Given the description of an element on the screen output the (x, y) to click on. 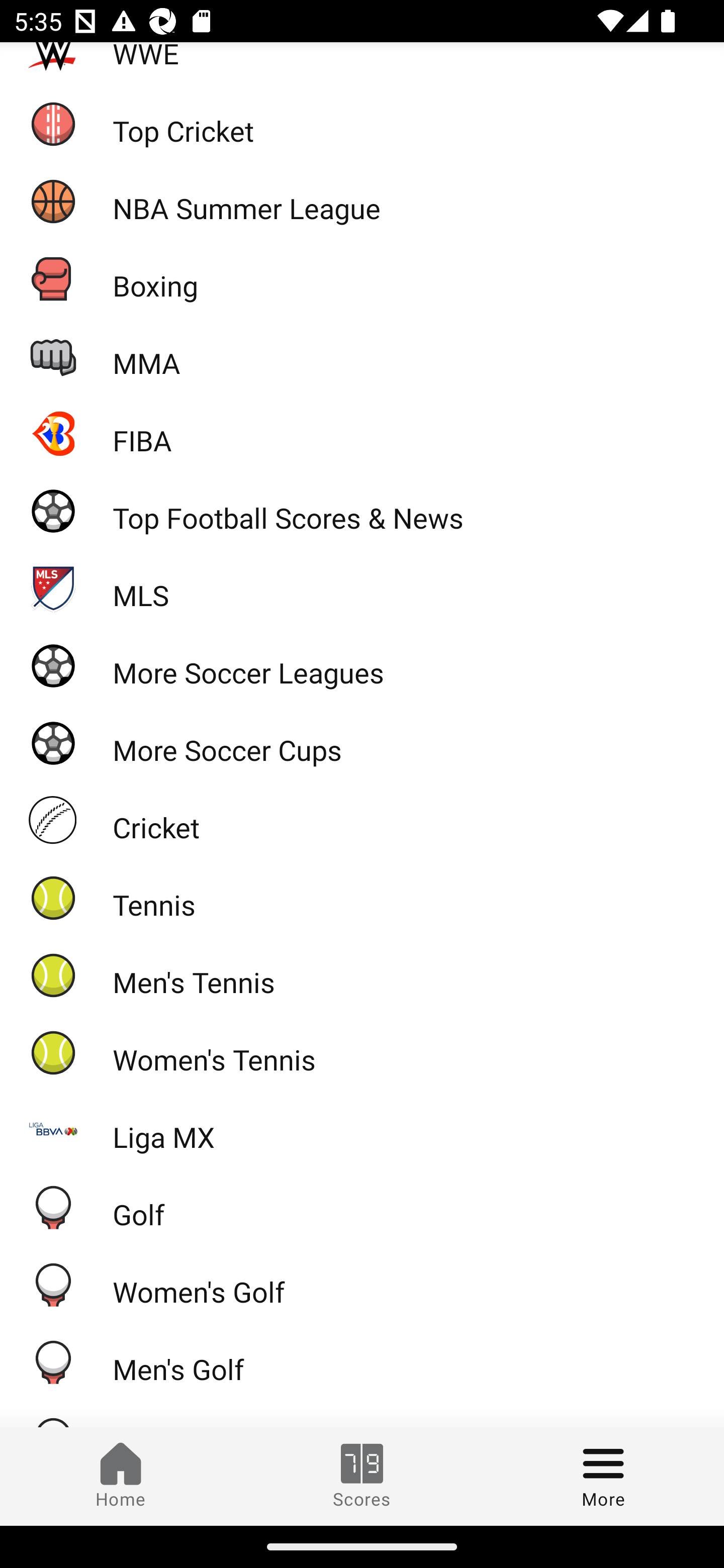
Top Cricket (362, 123)
NBA Summer League (362, 201)
Boxing (362, 277)
MMA (362, 355)
FIBA  (362, 433)
Top Football Scores & News (362, 509)
MLS (362, 587)
More Soccer Leagues (362, 665)
More Soccer Cups (362, 742)
Cricket G Cricket (362, 819)
Tennis (362, 897)
Men's Tennis (362, 974)
Women's Tennis (362, 1051)
Liga MX (362, 1129)
Golf (362, 1207)
Women's Golf (362, 1284)
Men's Golf (362, 1361)
Home (120, 1475)
Scores (361, 1475)
